Given the description of an element on the screen output the (x, y) to click on. 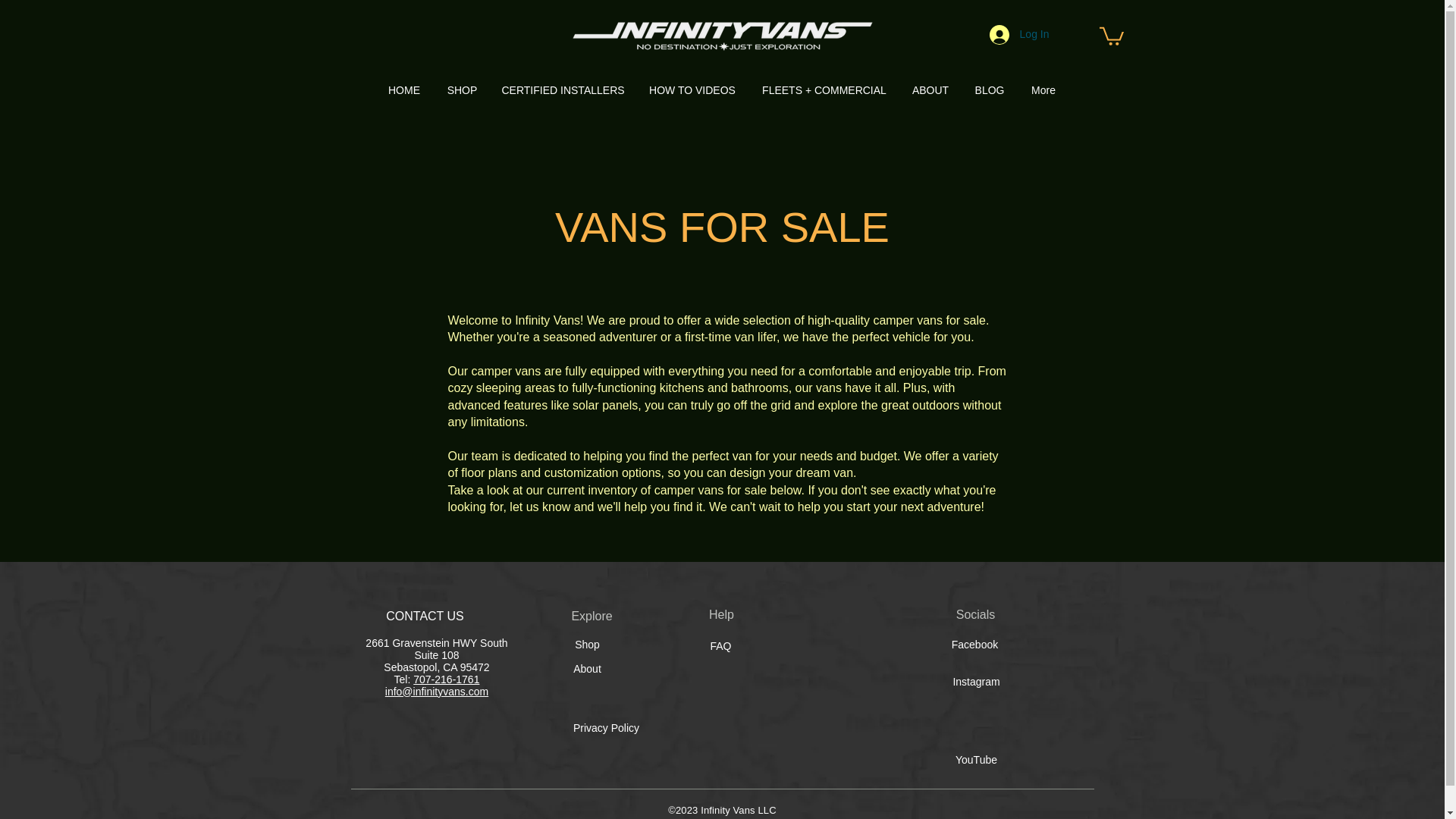
Instagram (975, 682)
HOW TO VIDEOS (691, 90)
FAQ (720, 647)
Facebook (973, 645)
Privacy Policy (605, 727)
HOME (403, 90)
About (588, 669)
YouTube (975, 760)
Shop (588, 645)
ABOUT (930, 90)
